Given the description of an element on the screen output the (x, y) to click on. 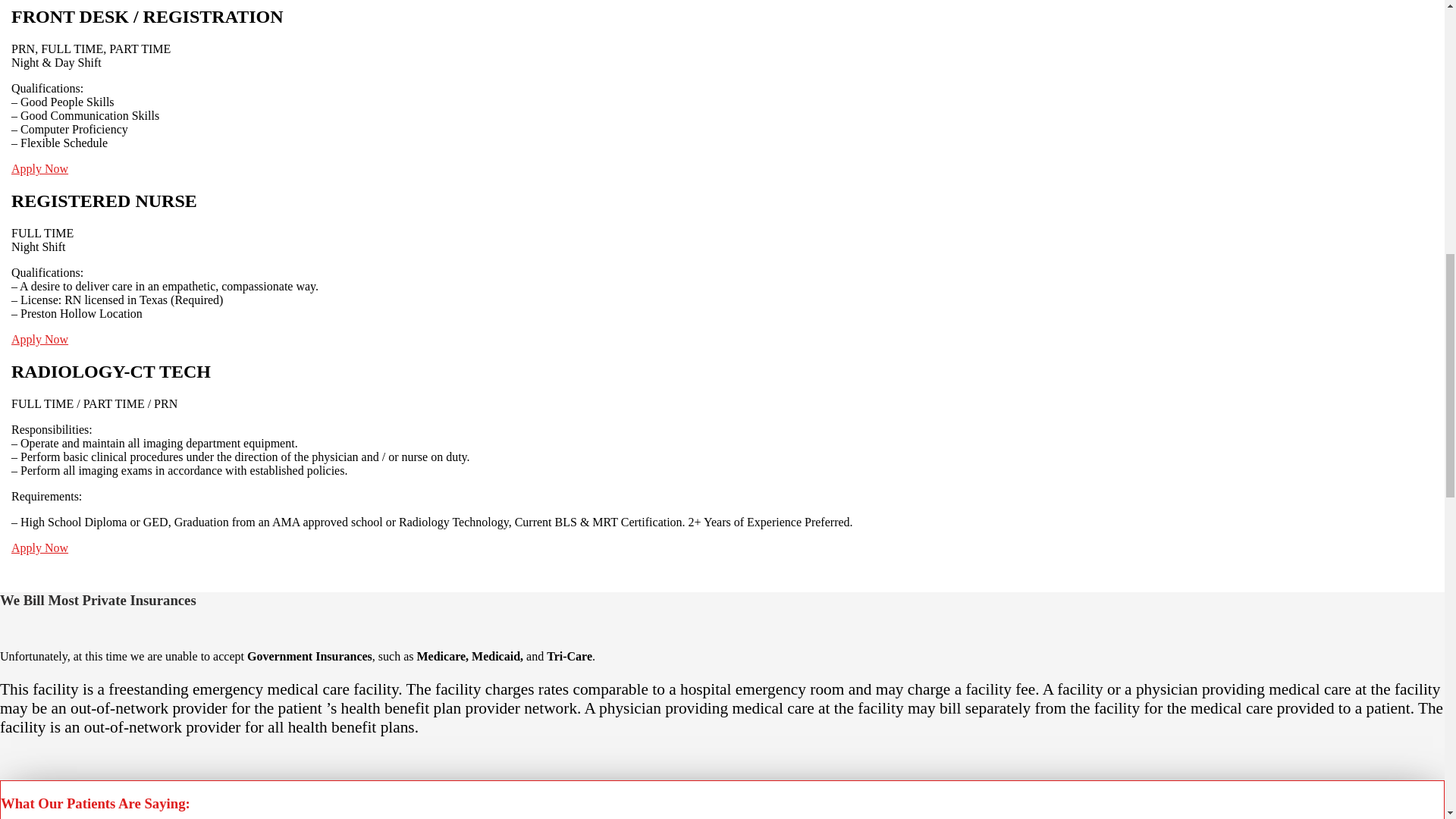
Apply Now (39, 547)
Apply Now (39, 338)
Apply Now (39, 168)
